Given the description of an element on the screen output the (x, y) to click on. 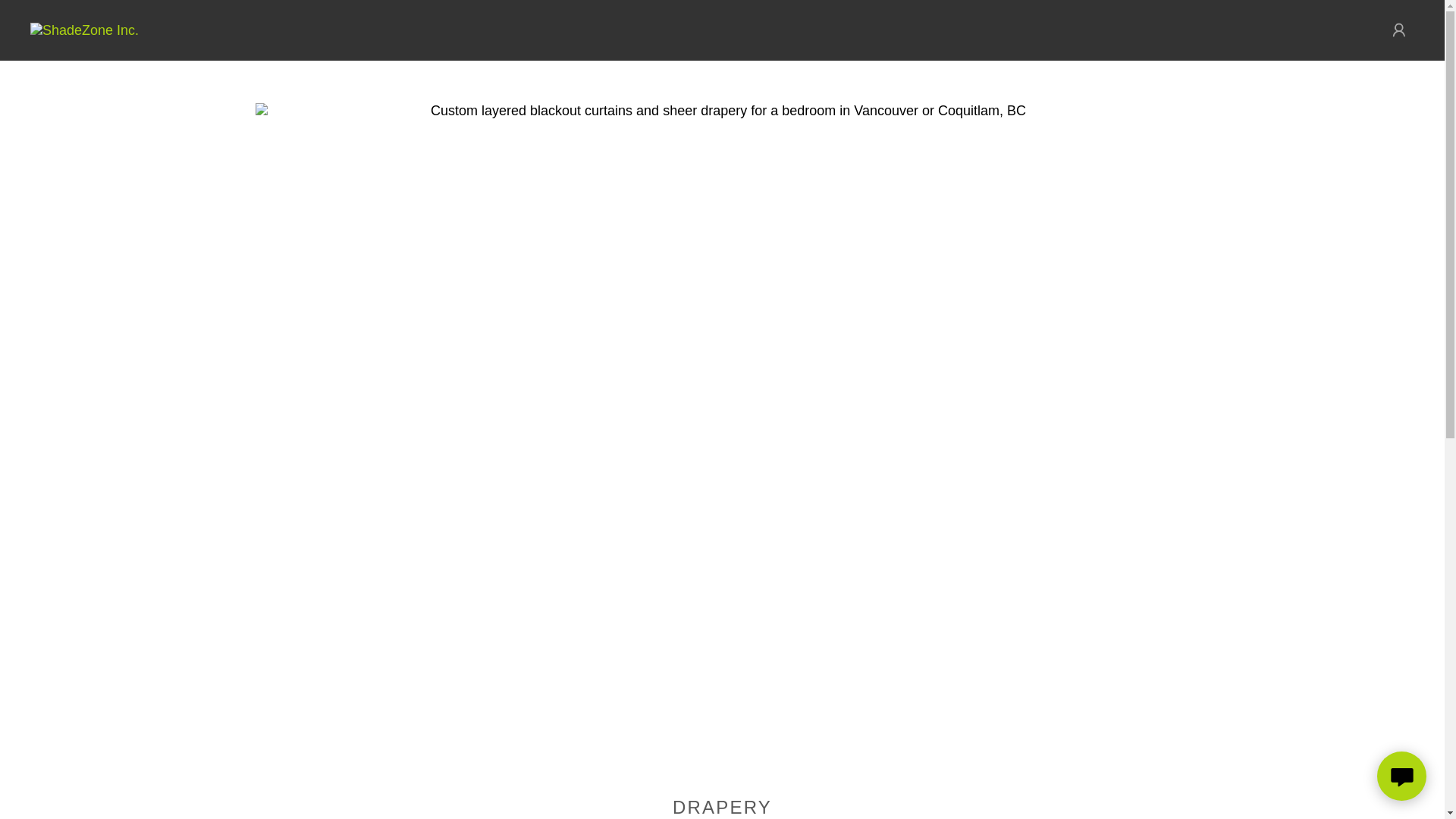
ShadeZone Inc. (84, 29)
